Given the description of an element on the screen output the (x, y) to click on. 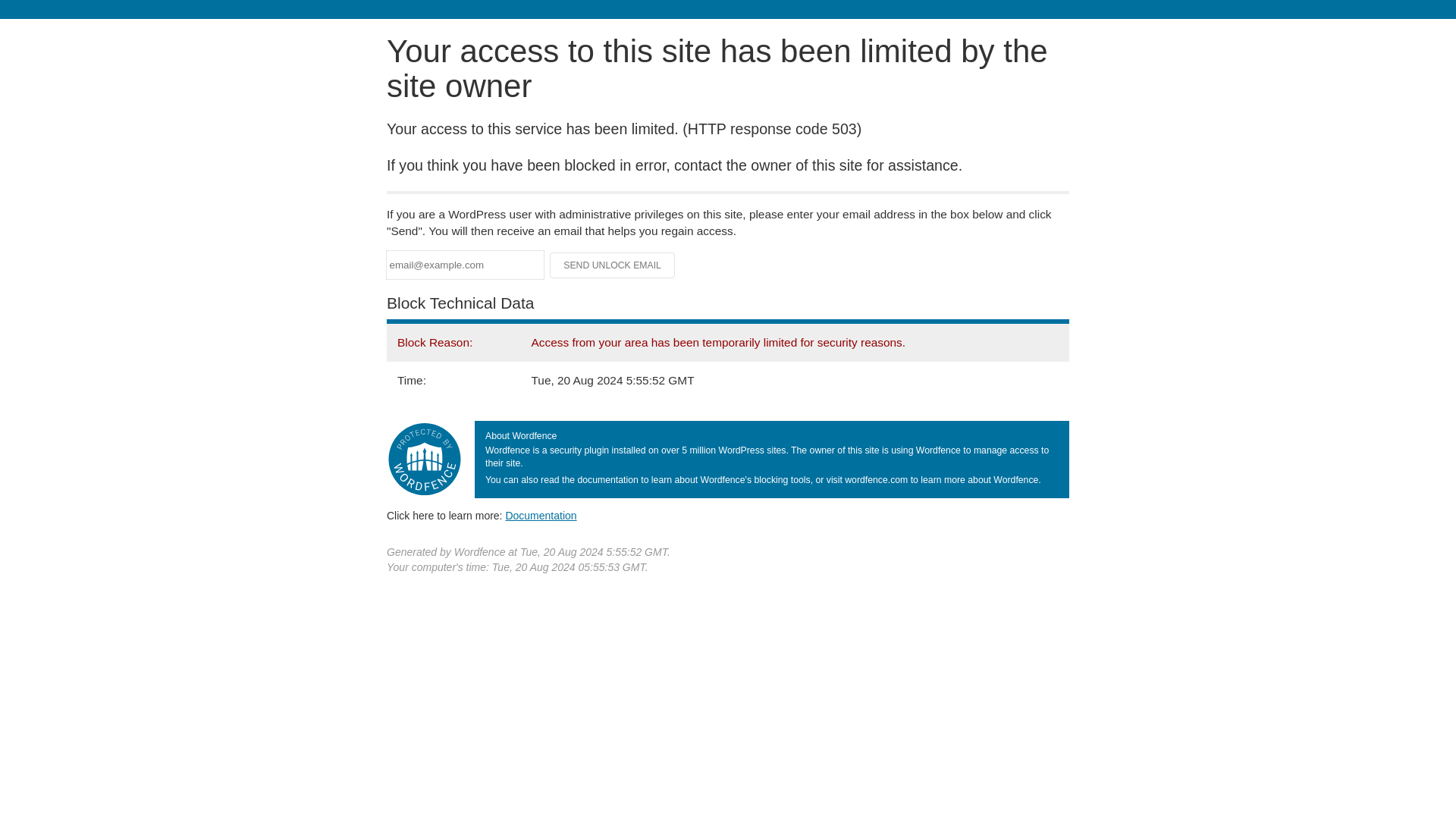
Send Unlock Email (612, 265)
Documentation (540, 515)
Send Unlock Email (612, 265)
